Given the description of an element on the screen output the (x, y) to click on. 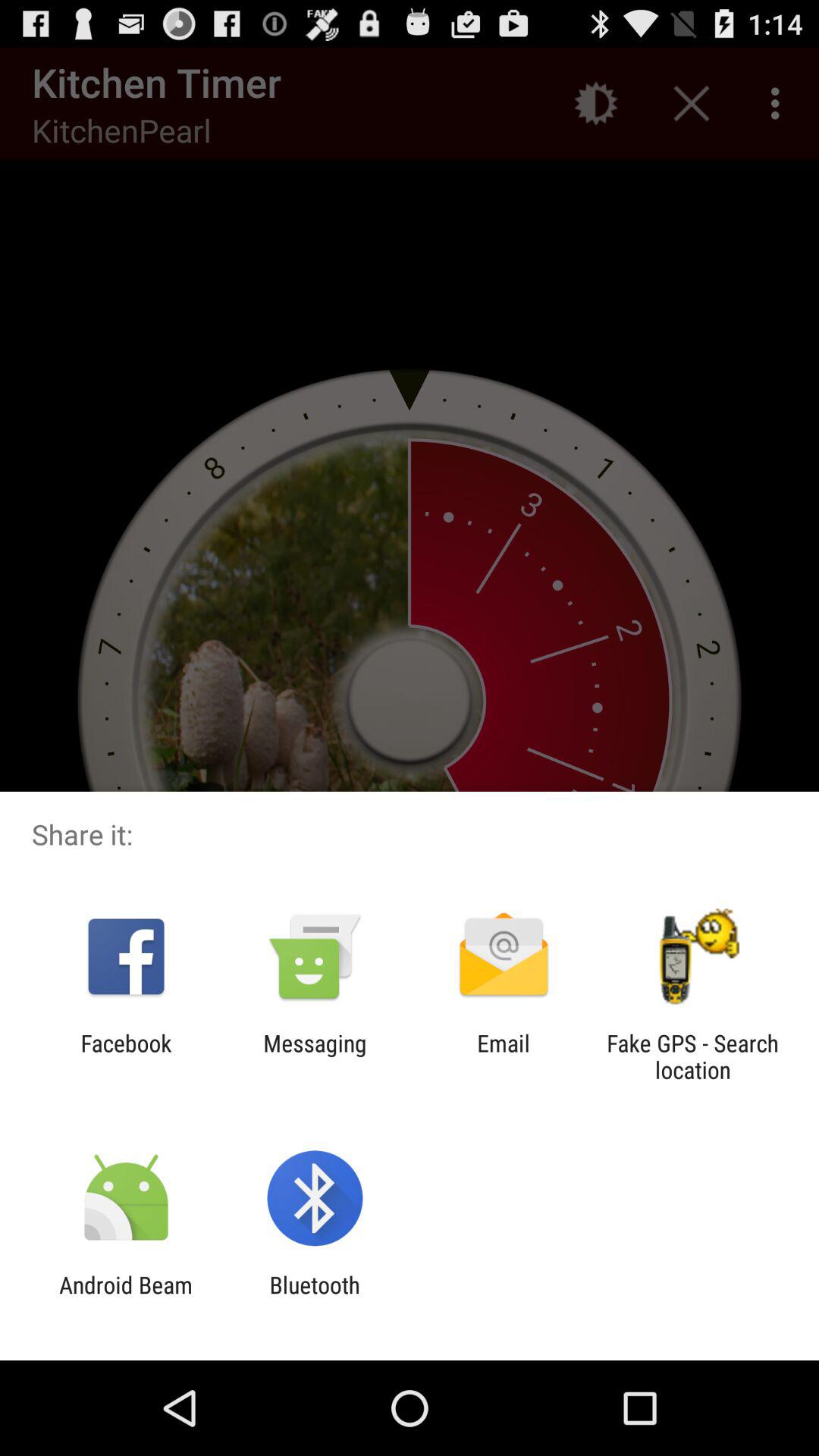
turn off app next to the messaging icon (125, 1056)
